Given the description of an element on the screen output the (x, y) to click on. 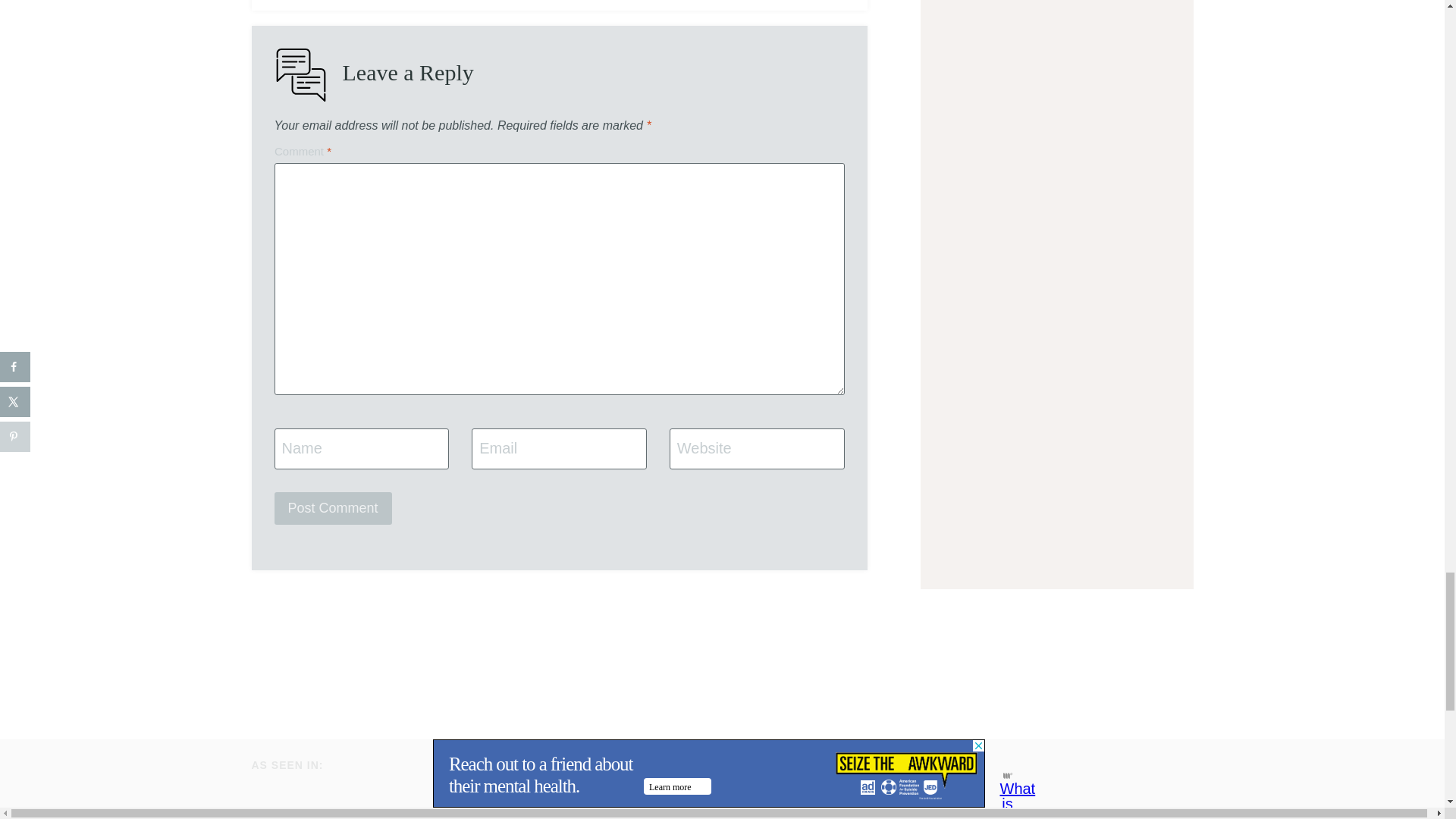
Post Comment (333, 508)
